Given the description of an element on the screen output the (x, y) to click on. 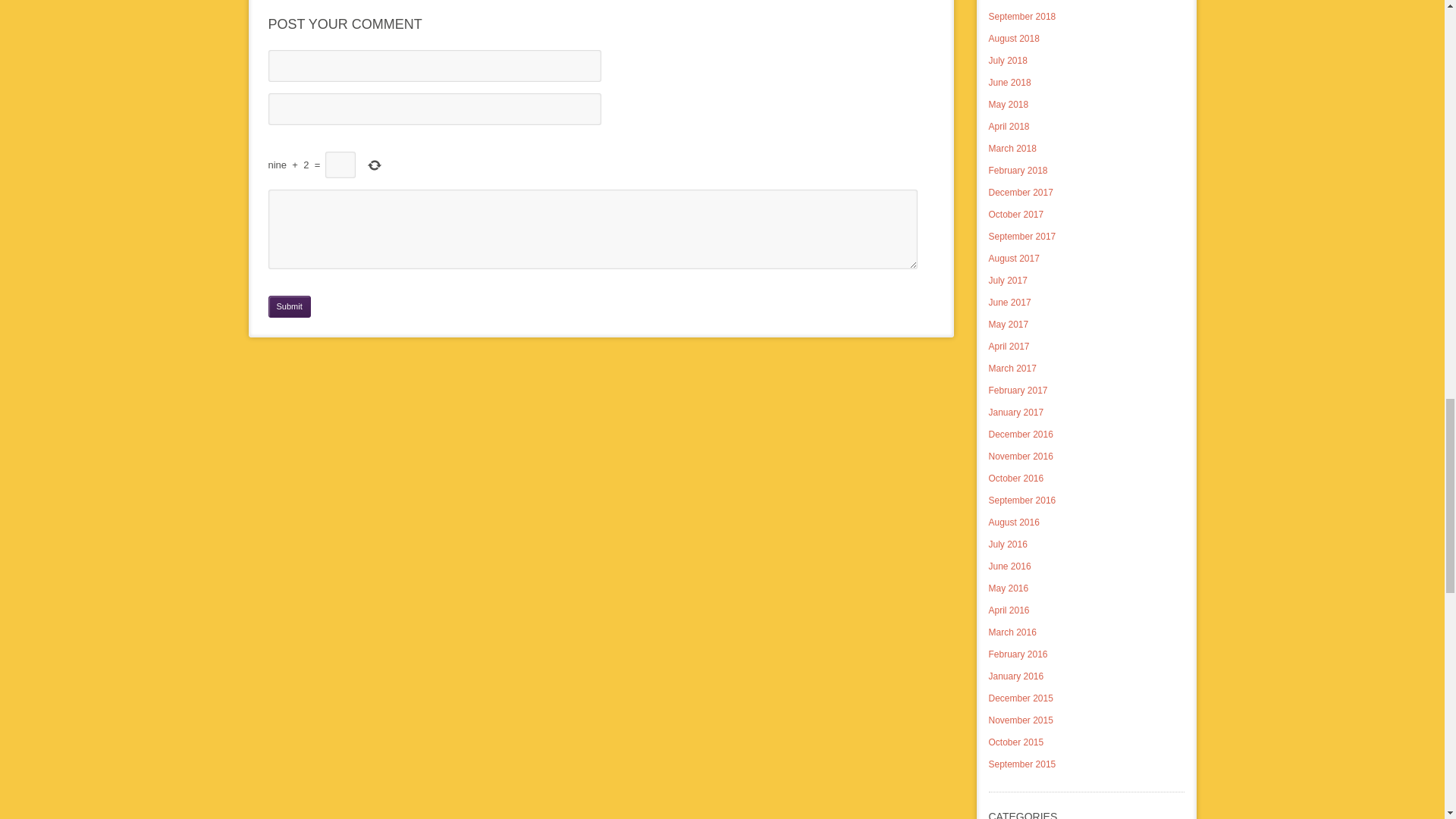
Submit (289, 306)
Your Email (434, 109)
Your Comment (592, 229)
Your Name (434, 65)
Submit (289, 306)
